Given the description of an element on the screen output the (x, y) to click on. 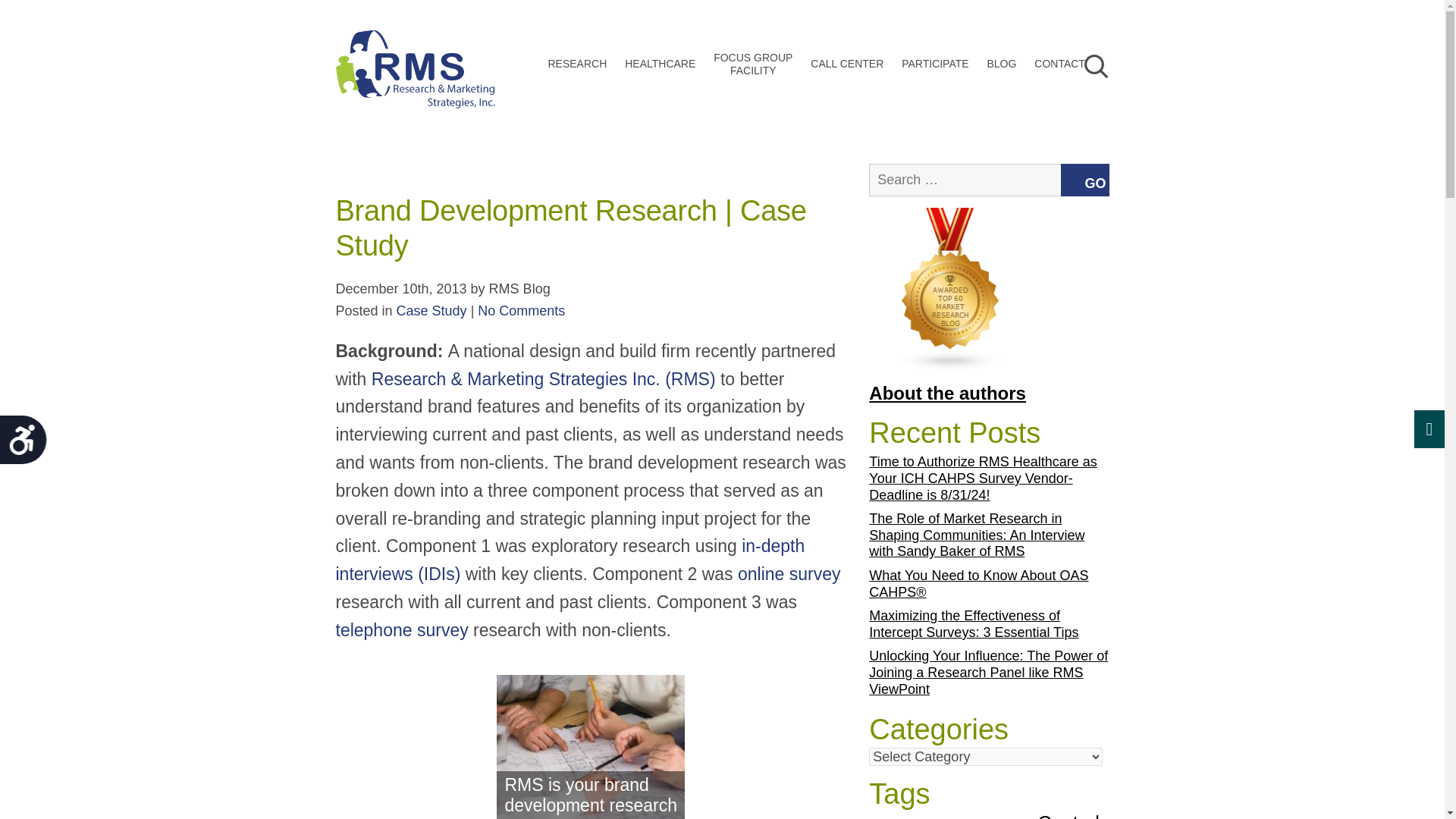
HEALTHCARE (660, 63)
GO (1085, 108)
Accessibility (29, 445)
GO (1083, 179)
CONTACT (1059, 63)
PARTICIPATE (934, 63)
telephone survey (400, 629)
Case Study (752, 64)
CALL CENTER (431, 310)
GO (847, 63)
online survey (1083, 179)
RMS (789, 573)
GO (414, 80)
